Given the description of an element on the screen output the (x, y) to click on. 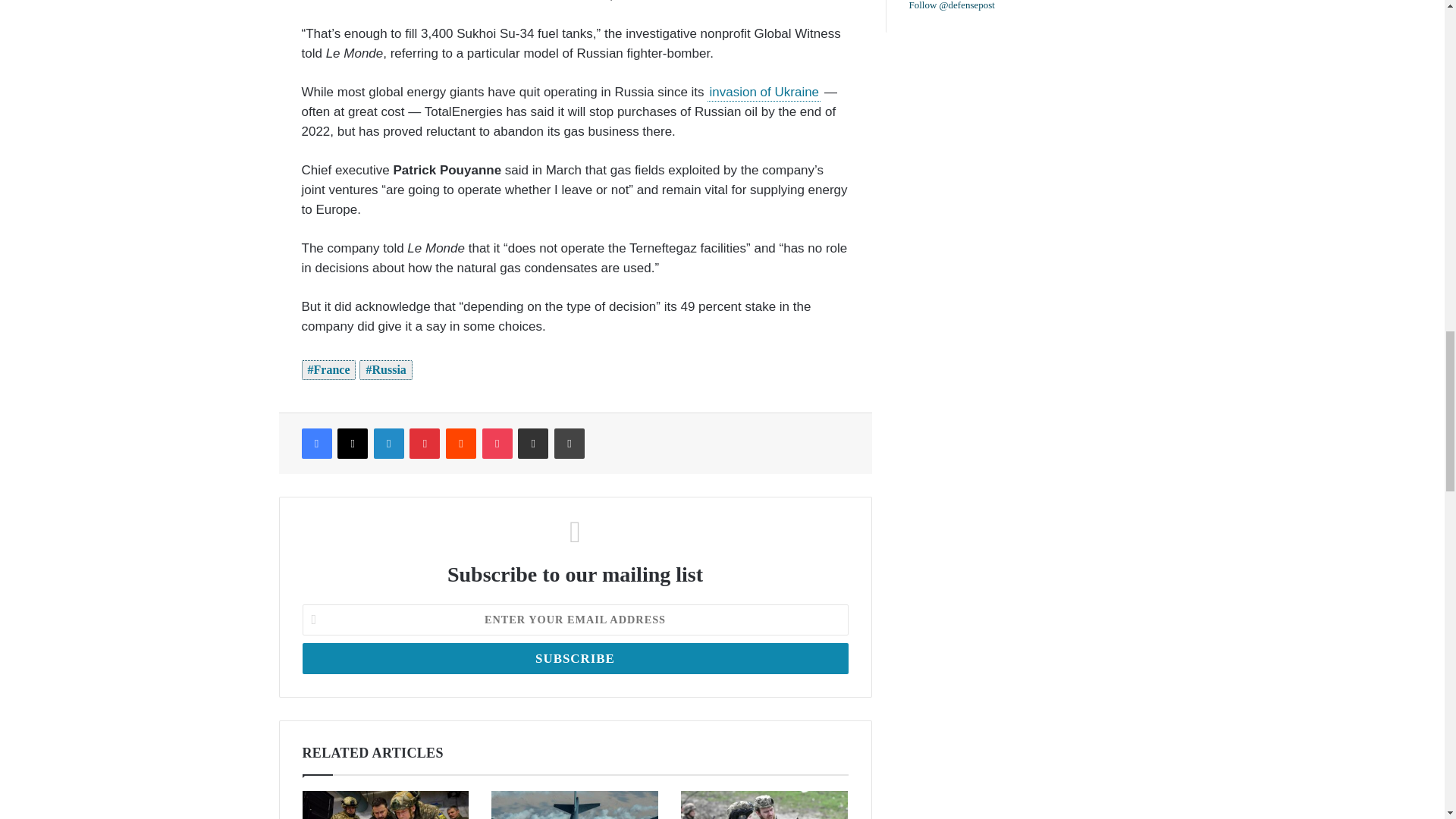
Subscribe (574, 658)
